Given the description of an element on the screen output the (x, y) to click on. 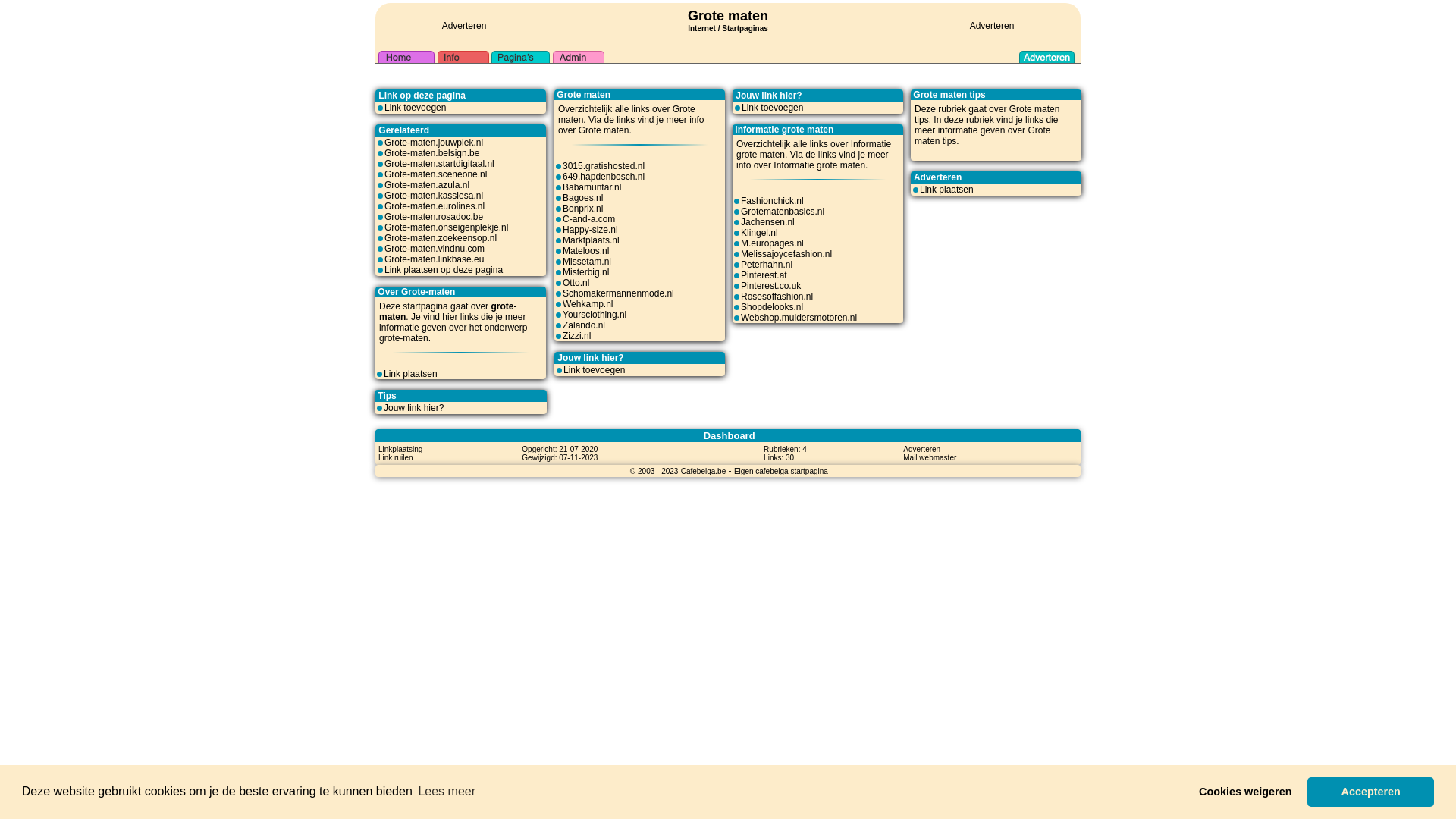
Zalando.nl Element type: text (583, 325)
Grote-maten.azula.nl Element type: text (426, 184)
Link ruilen Element type: text (395, 456)
Grote-maten.onseigenplekje.nl Element type: text (446, 227)
Klingel.nl Element type: text (759, 232)
Missetam.nl Element type: text (586, 261)
Linkplaatsing Element type: text (400, 448)
Grote maten Element type: text (727, 15)
Wehkamp.nl Element type: text (587, 303)
Zizzi.nl Element type: text (576, 335)
Grote-maten.linkbase.eu Element type: text (433, 259)
Adverteren Element type: text (991, 25)
Grote-maten.zoekeensop.nl Element type: text (440, 237)
Rosesoffashion.nl Element type: text (776, 296)
Babamuntar.nl Element type: text (591, 187)
Grote maten Element type: text (982, 135)
Grote-maten.eurolines.nl Element type: text (434, 205)
Jouw link hier? Element type: text (413, 407)
Marktplaats.nl Element type: text (590, 240)
Misterbig.nl Element type: text (585, 271)
Grote-maten.vindnu.com Element type: text (434, 248)
Schomakermannenmode.nl Element type: text (618, 293)
Startpaginas Element type: text (744, 28)
Grote-maten.sceneone.nl Element type: text (435, 174)
Grote-maten.startdigitaal.nl Element type: text (439, 163)
Link plaatsen Element type: text (946, 189)
Grote-maten.jouwplek.nl Element type: text (433, 142)
Peterhahn.nl Element type: text (766, 264)
Bagoes.nl Element type: text (582, 197)
Internet Element type: text (701, 26)
Link toevoegen Element type: text (414, 107)
Adverteren Element type: text (921, 448)
Accepteren Element type: text (1370, 791)
Pinterest.at Element type: text (763, 274)
Lees meer Element type: text (446, 791)
Link toevoegen Element type: text (772, 107)
Cafebelga.be Element type: text (703, 470)
Mail webmaster Element type: text (929, 456)
649.hapdenbosch.nl Element type: text (603, 176)
M.europages.nl Element type: text (771, 243)
Mateloos.nl Element type: text (585, 250)
Grote maten Element type: text (1034, 108)
Bonprix.nl Element type: text (582, 208)
Cookies weigeren Element type: text (1245, 791)
C-and-a.com Element type: text (588, 218)
Shopdelooks.nl Element type: text (771, 306)
Otto.nl Element type: text (575, 282)
Grotematenbasics.nl Element type: text (782, 211)
Jachensen.nl Element type: text (767, 221)
3015.gratishosted.nl Element type: text (603, 165)
Happy-size.nl Element type: text (590, 229)
Pinterest.co.uk Element type: text (770, 285)
Fashionchick.nl Element type: text (771, 200)
Melissajoycefashion.nl Element type: text (785, 253)
Grote-maten.belsign.be Element type: text (431, 152)
Adverteren Element type: text (464, 25)
Grote-maten.rosadoc.be Element type: text (433, 216)
Eigen cafebelga startpagina Element type: text (781, 470)
Webshop.muldersmotoren.nl Element type: text (798, 317)
Grote-maten.kassiesa.nl Element type: text (433, 195)
Link plaatsen op deze pagina Element type: text (443, 269)
Link toevoegen Element type: text (593, 369)
Link plaatsen Element type: text (410, 373)
Yoursclothing.nl Element type: text (594, 314)
